Given the description of an element on the screen output the (x, y) to click on. 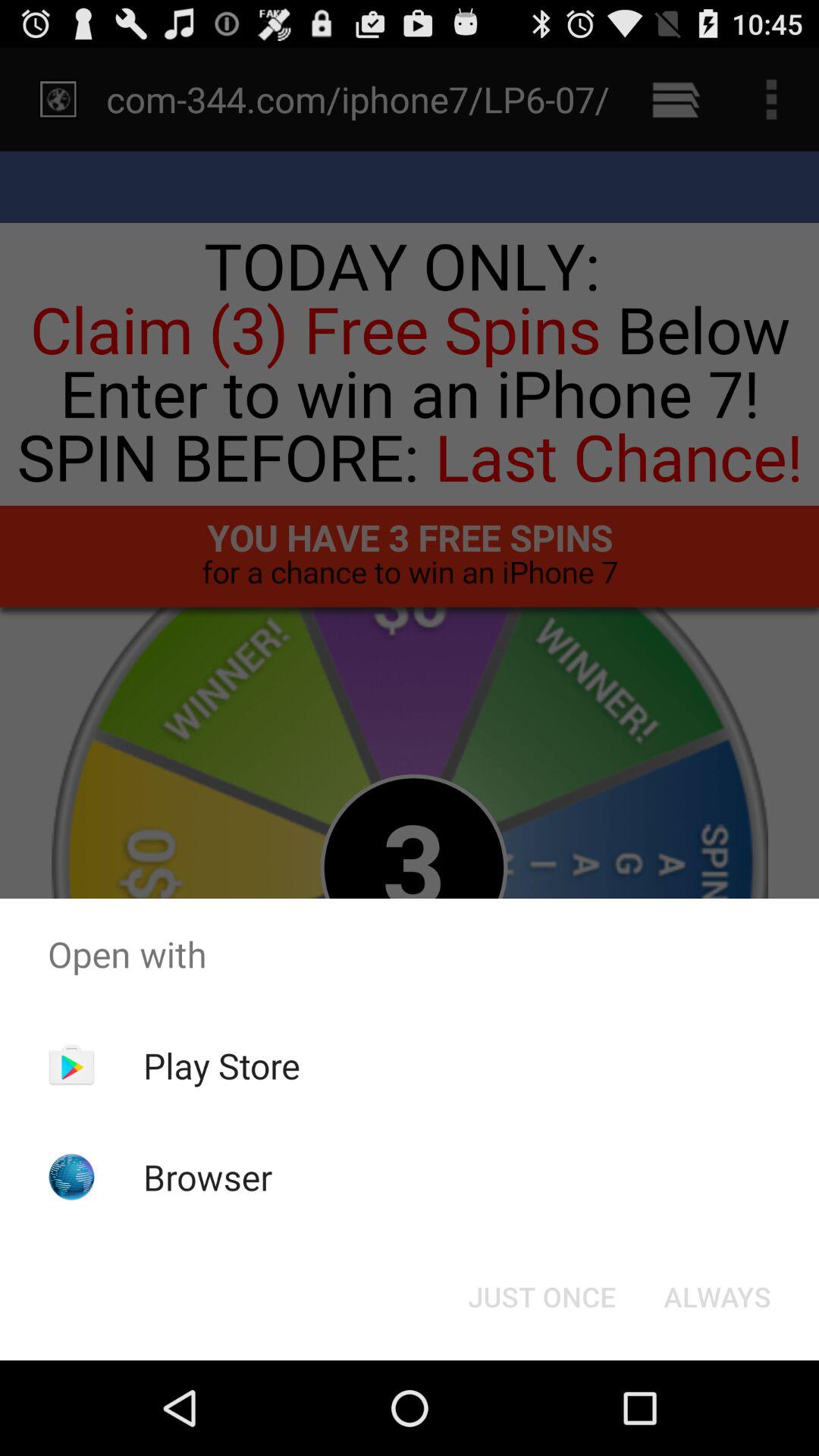
choose the icon below open with icon (221, 1065)
